Given the description of an element on the screen output the (x, y) to click on. 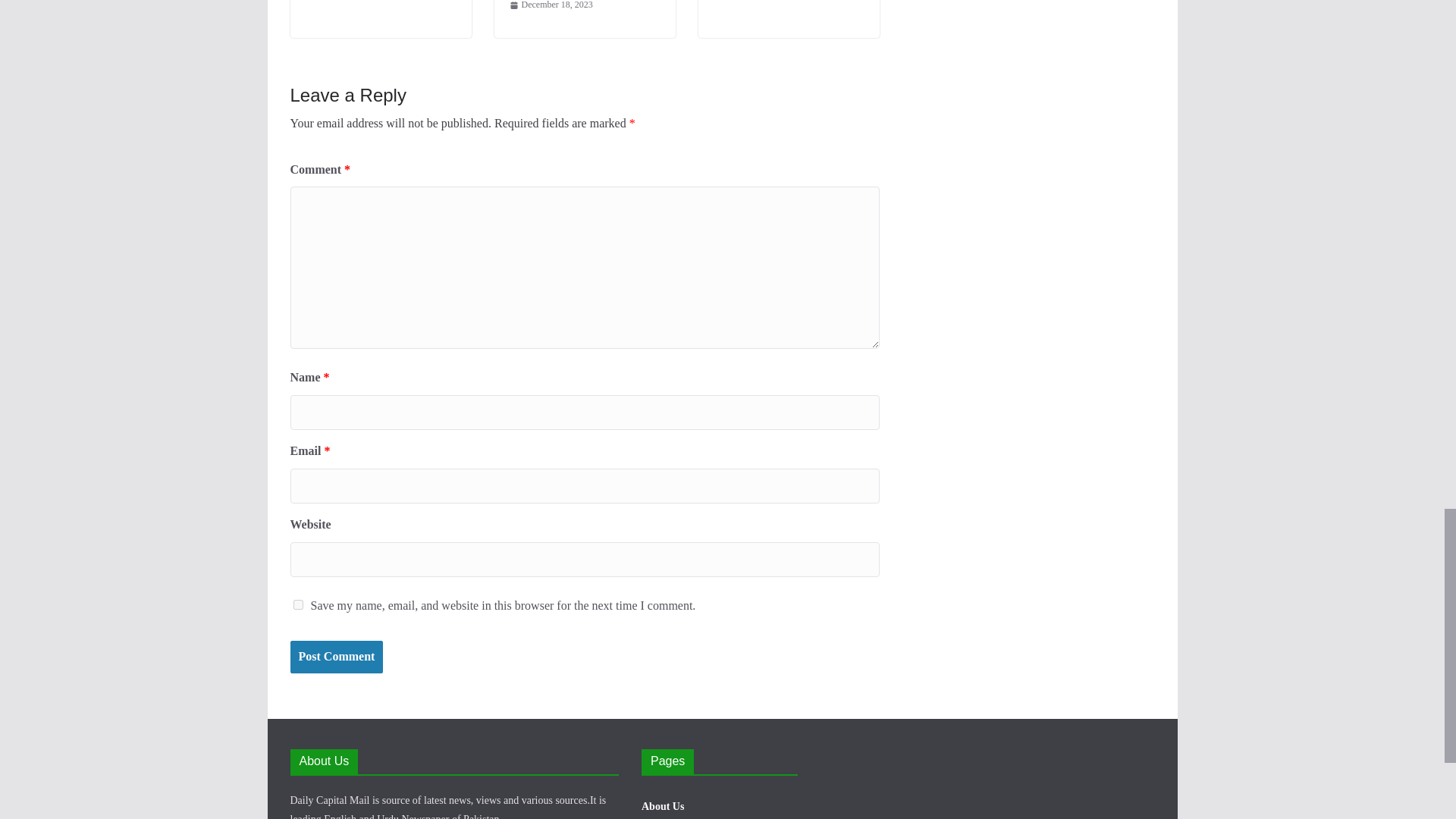
yes (297, 603)
Post Comment (335, 656)
